Given the description of an element on the screen output the (x, y) to click on. 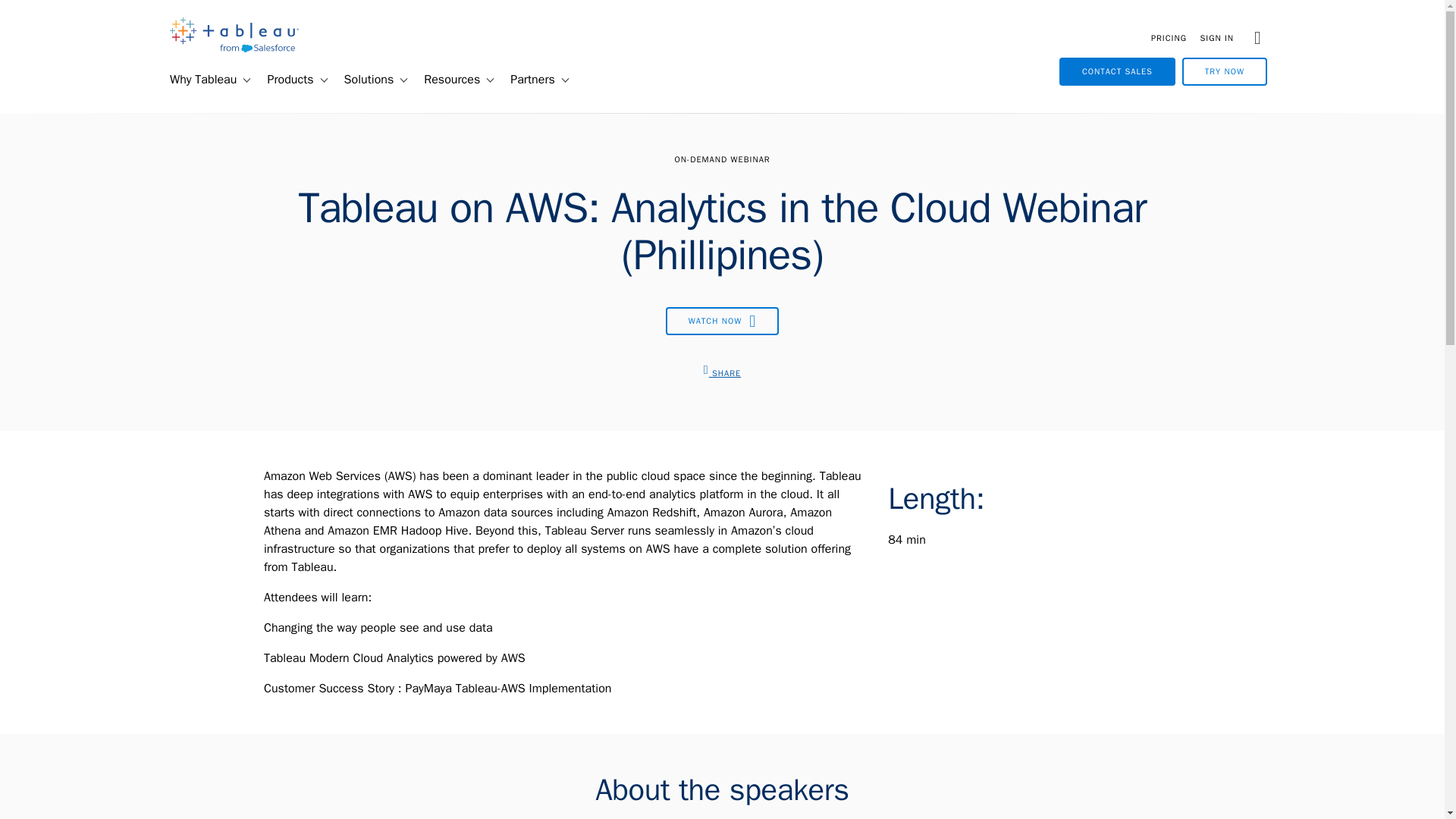
Products (283, 79)
Return to the Tableau Software home page (234, 48)
Solutions (362, 79)
Why Tableau (196, 79)
